Given the description of an element on the screen output the (x, y) to click on. 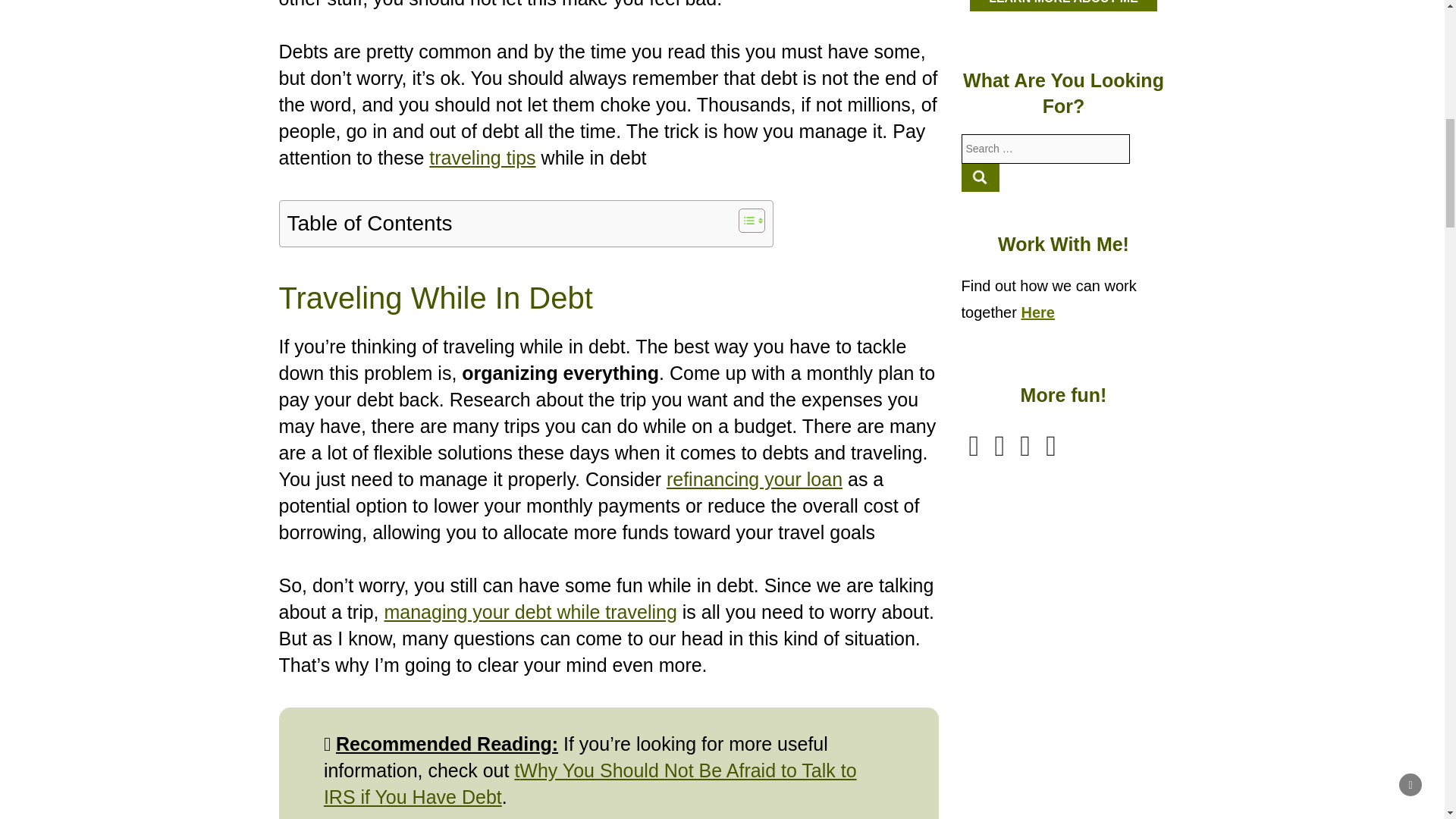
Search for: (1045, 148)
Search (980, 177)
Search (980, 177)
